Given the description of an element on the screen output the (x, y) to click on. 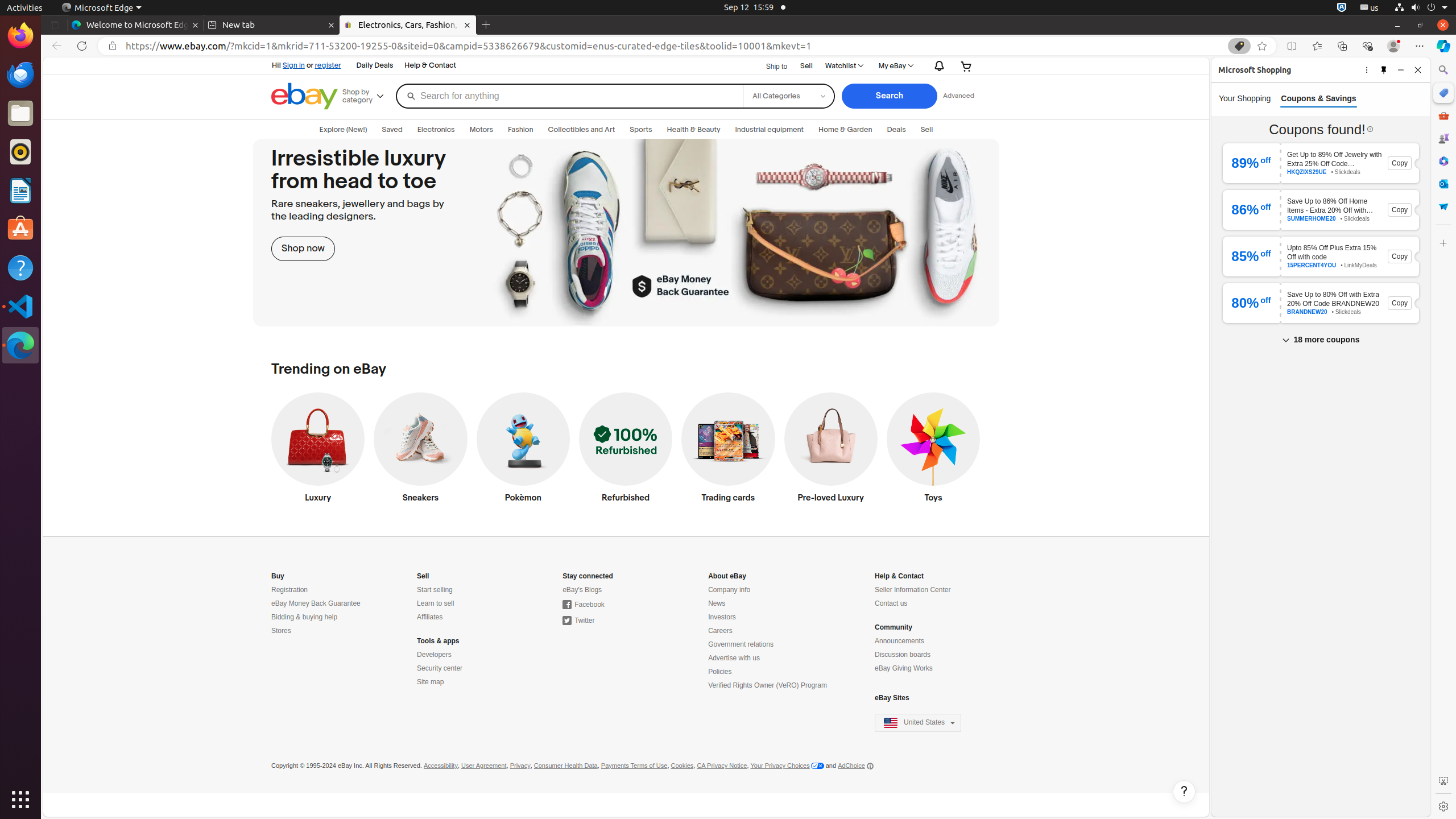
Trading cards Element type: link (728, 450)
Copy Element type: push-button (1399, 163)
eBay Home Element type: link (304, 95)
Affiliates Element type: link (429, 617)
This site has coupons! Shopping in Microsoft Edge Element type: push-button (1238, 46)
